Given the description of an element on the screen output the (x, y) to click on. 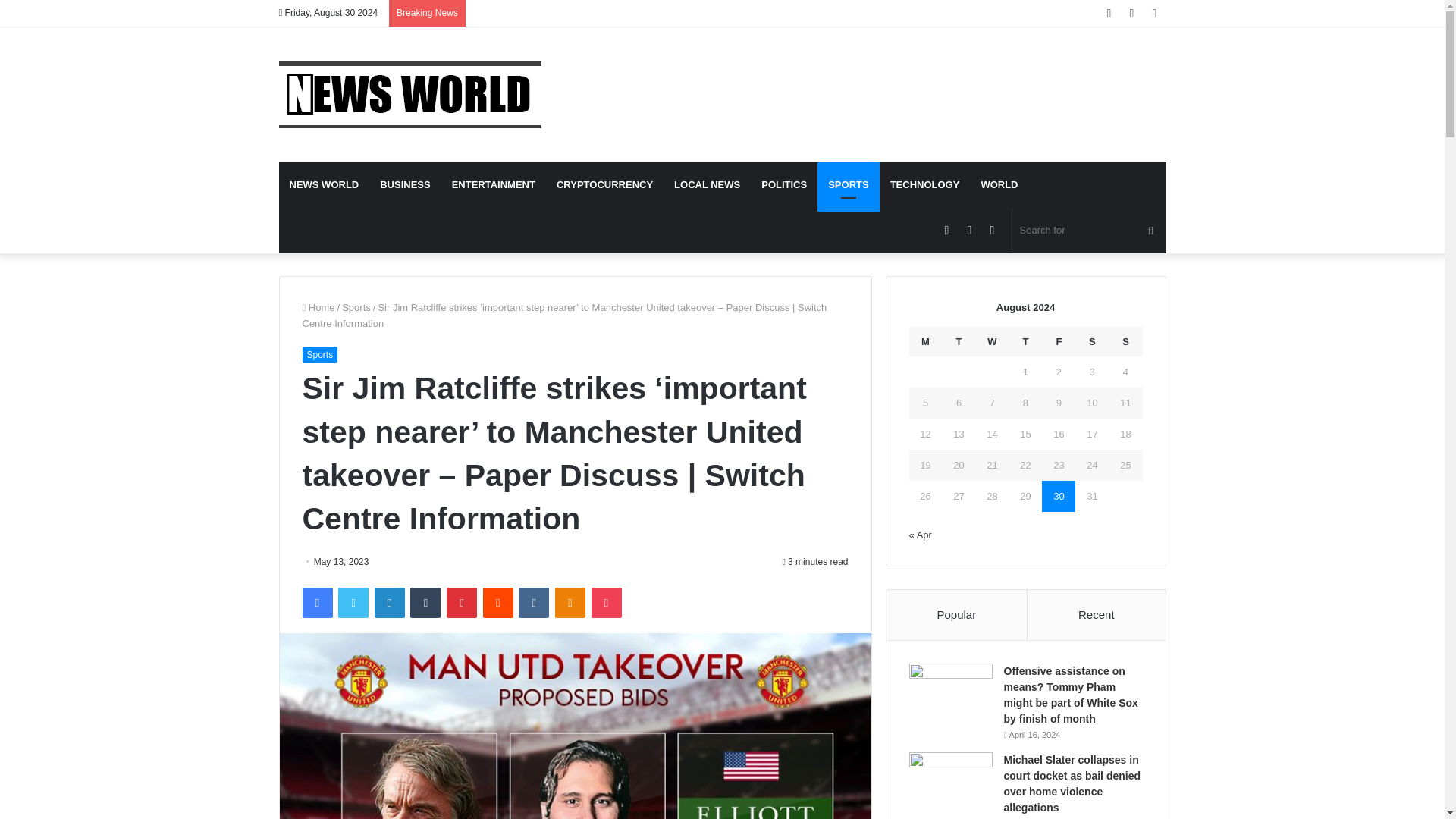
WORLD (998, 185)
POLITICS (783, 185)
LOCAL NEWS (707, 185)
Odnoklassniki (569, 603)
VKontakte (533, 603)
Twitter (352, 603)
Tumblr (425, 603)
Sports (356, 307)
Reddit (498, 603)
Pinterest (461, 603)
